Given the description of an element on the screen output the (x, y) to click on. 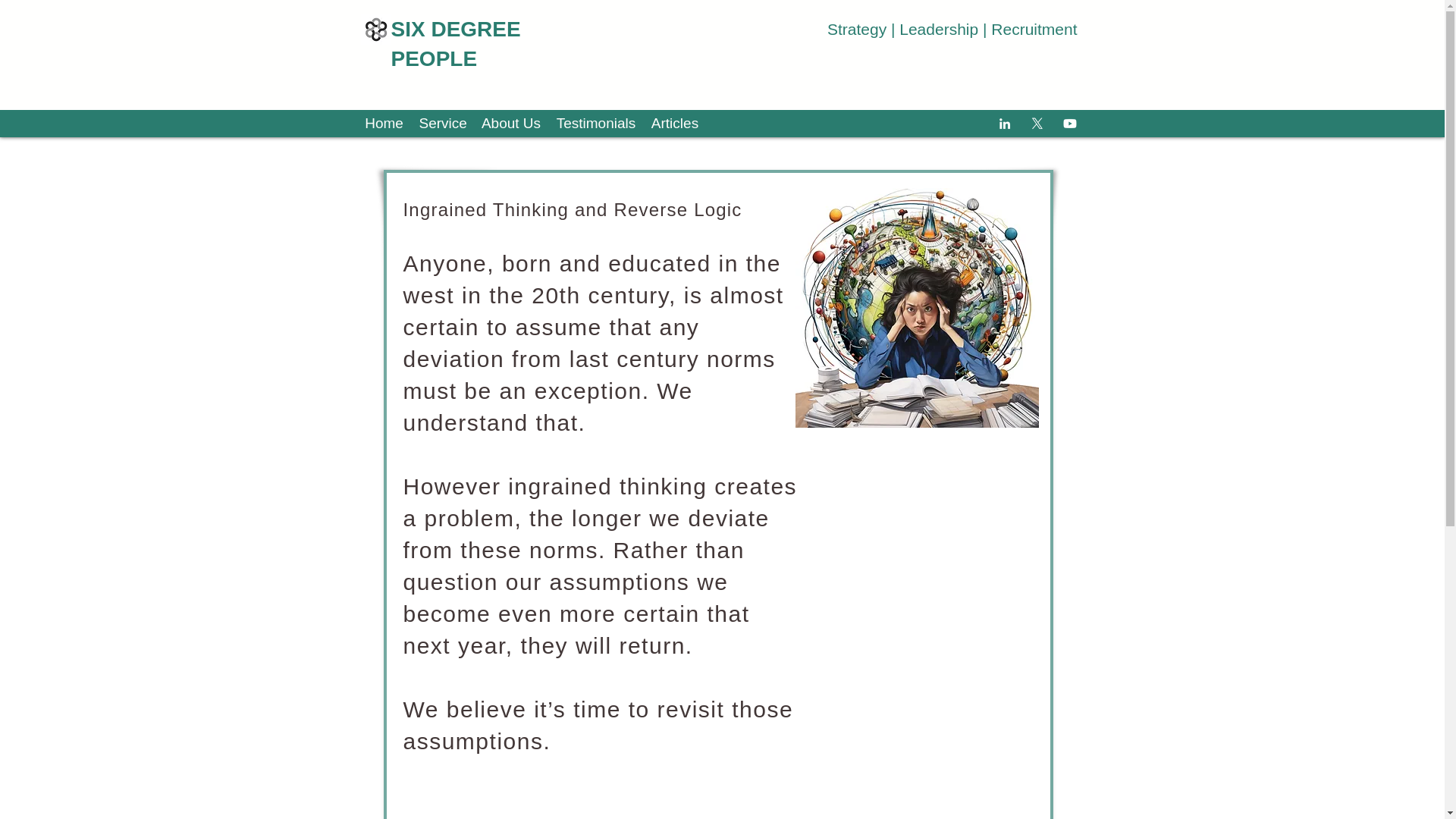
Articles (674, 123)
Service (441, 123)
Testimonials (595, 123)
SIX DEGREE PEOPLE (456, 43)
Home (383, 123)
About Us (510, 123)
